Given the description of an element on the screen output the (x, y) to click on. 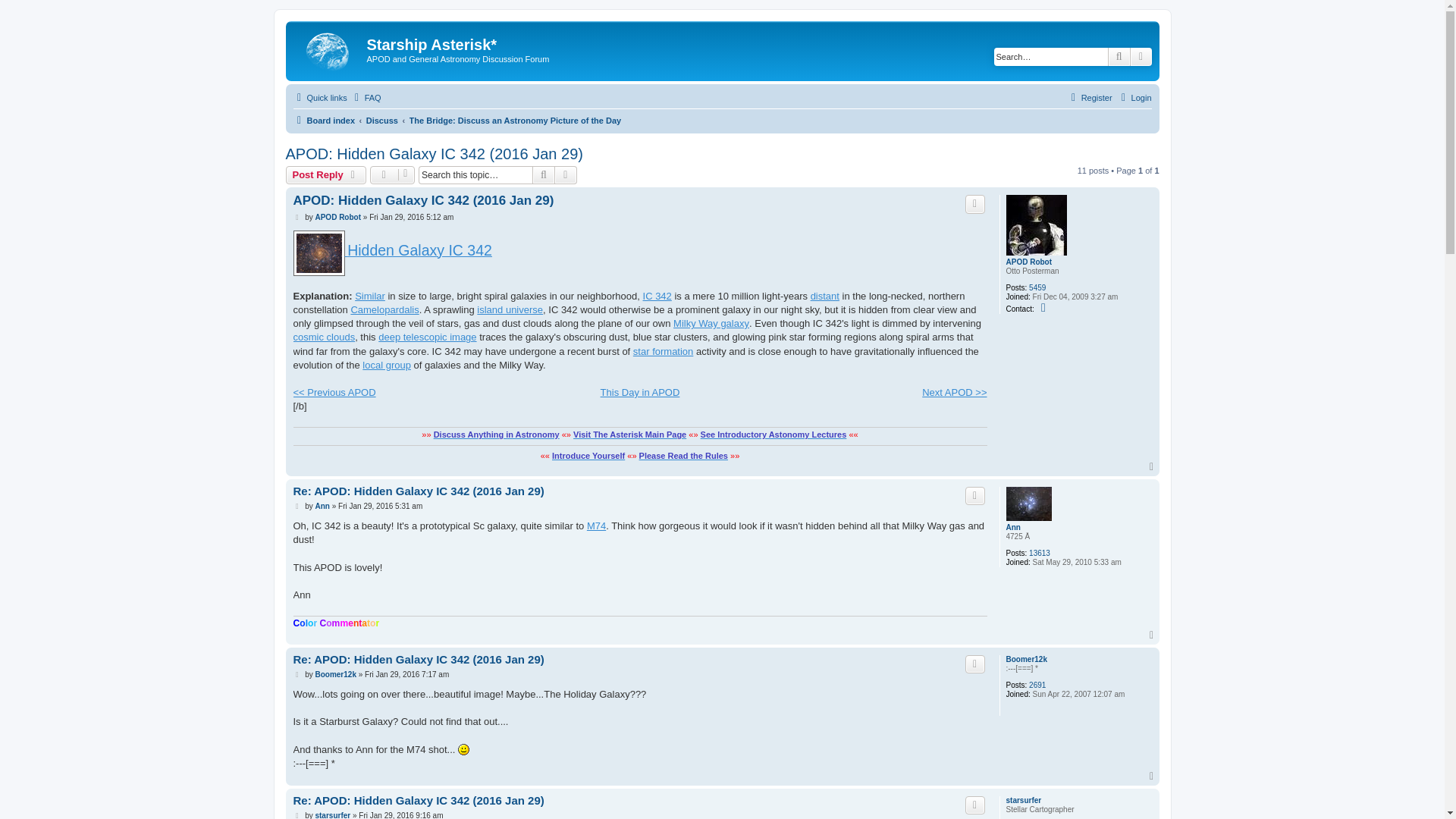
Login (1134, 97)
Register (1089, 97)
island universe (510, 309)
Search (543, 175)
APOD Robot (1028, 261)
Frequently Asked Questions (365, 97)
Advanced search (565, 175)
Milky Way galaxy (710, 323)
Post a reply (325, 175)
Post (297, 216)
Post Reply (325, 175)
Topic tools (391, 175)
Contact APOD Robot (1044, 307)
The Bridge: Discuss an Astronomy Picture of the Day (515, 120)
Board index (327, 49)
